Given the description of an element on the screen output the (x, y) to click on. 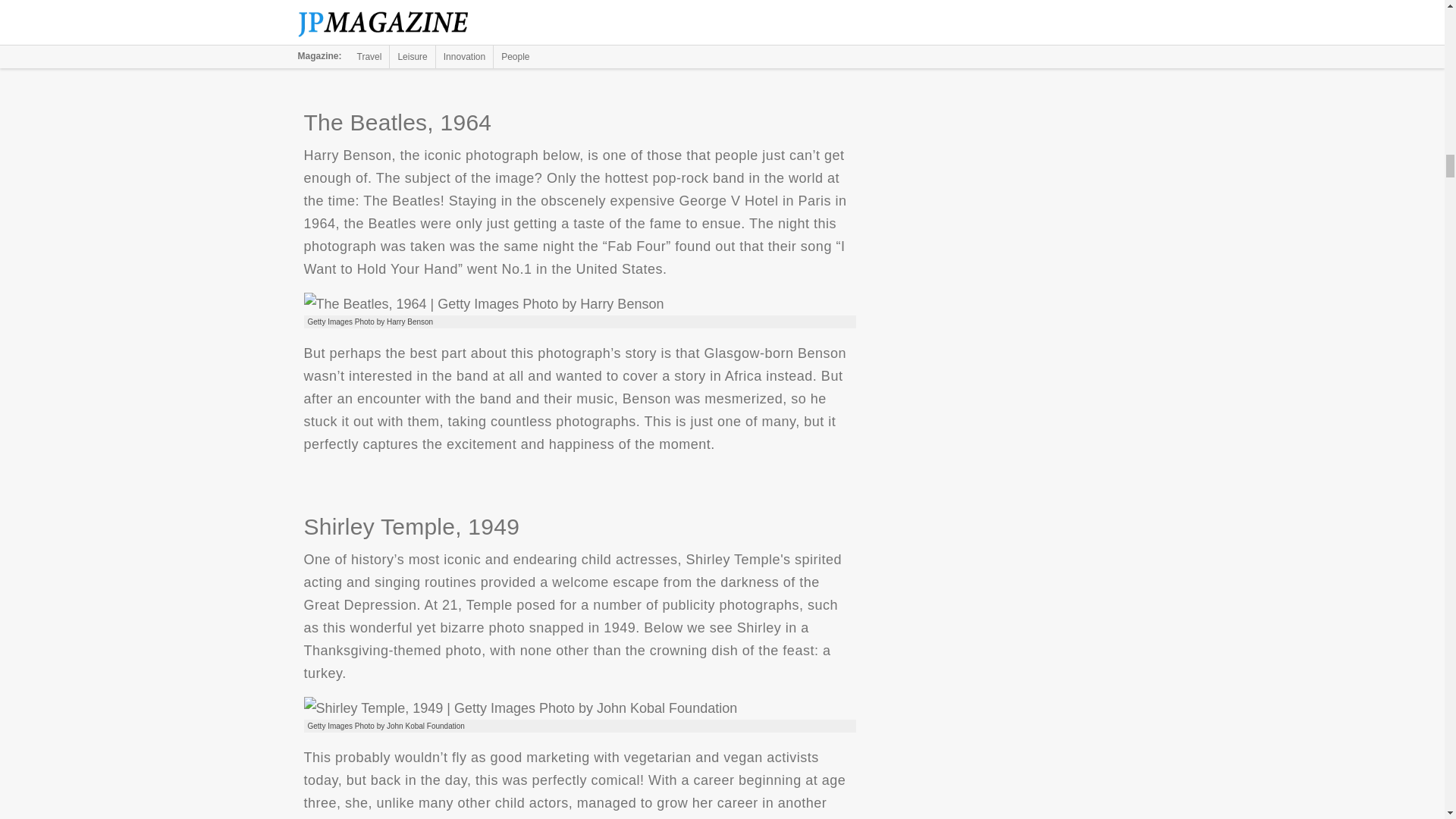
Shirley Temple, 1949 (519, 707)
The Beatles, 1964 (482, 303)
